Given the description of an element on the screen output the (x, y) to click on. 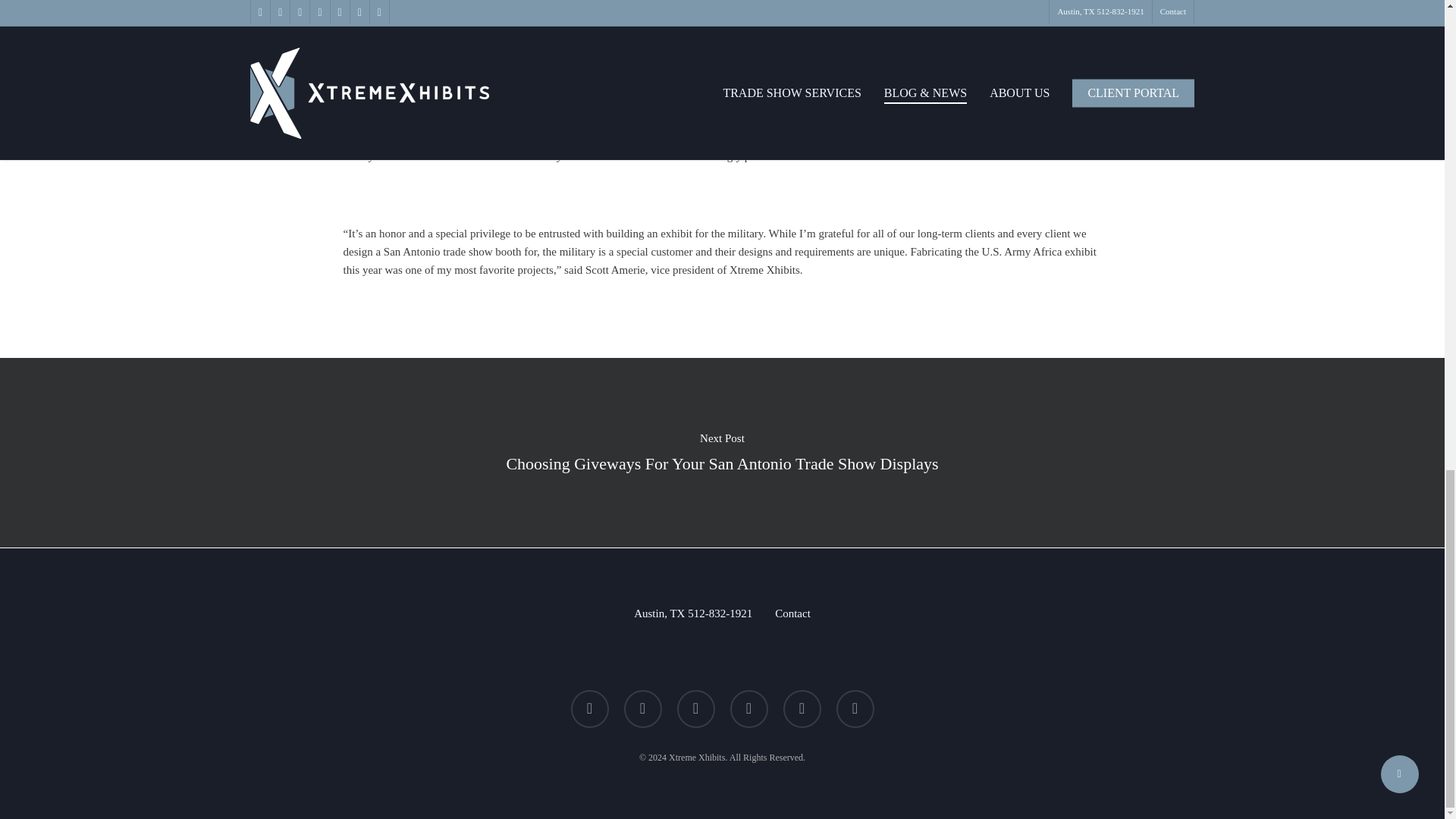
San Antonio trade show exhibits (684, 137)
